Given the description of an element on the screen output the (x, y) to click on. 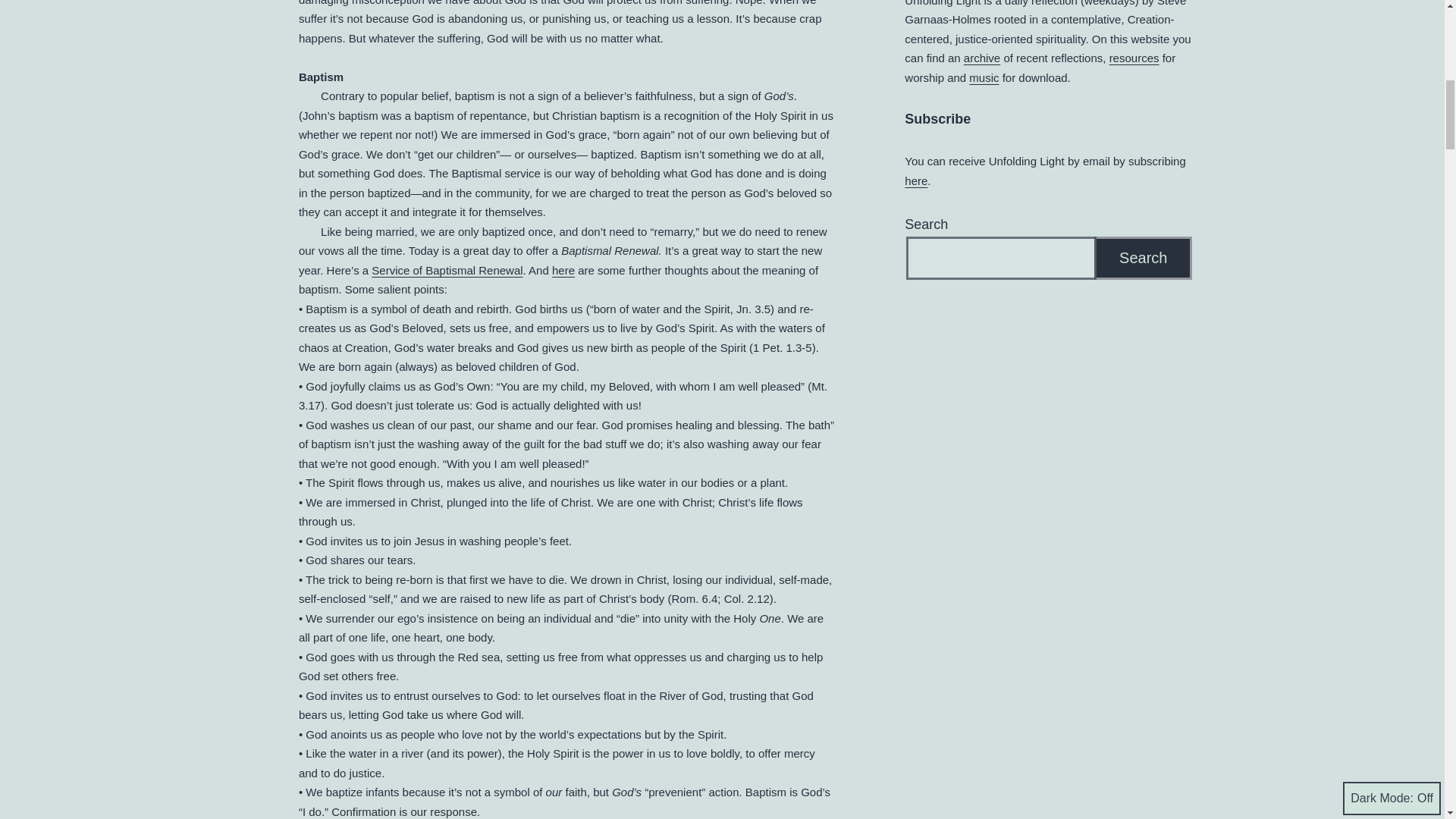
here (563, 269)
resources (1133, 57)
here (915, 180)
Search (1143, 258)
music (983, 77)
Service of Baptismal Renewal (446, 269)
archive (981, 57)
